Given the description of an element on the screen output the (x, y) to click on. 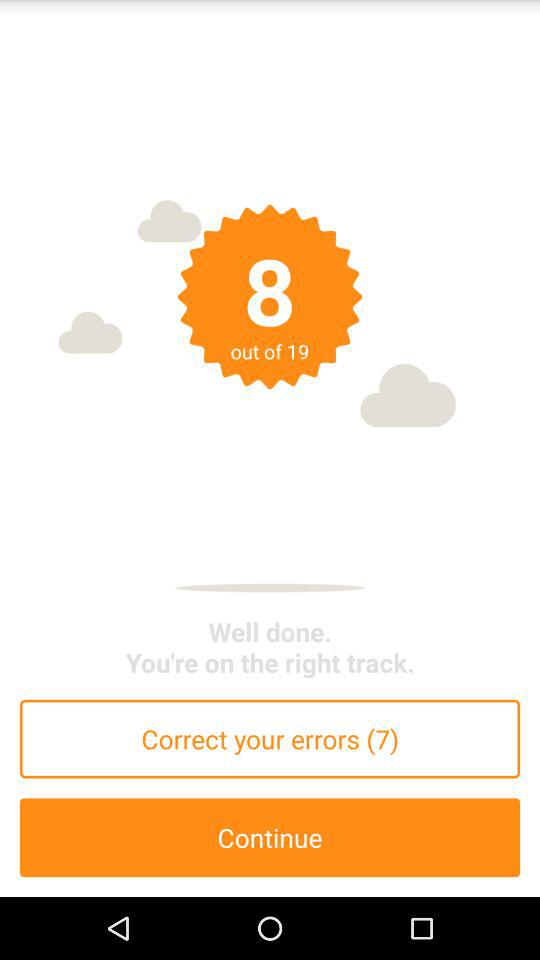
click item below the well done you item (269, 738)
